Given the description of an element on the screen output the (x, y) to click on. 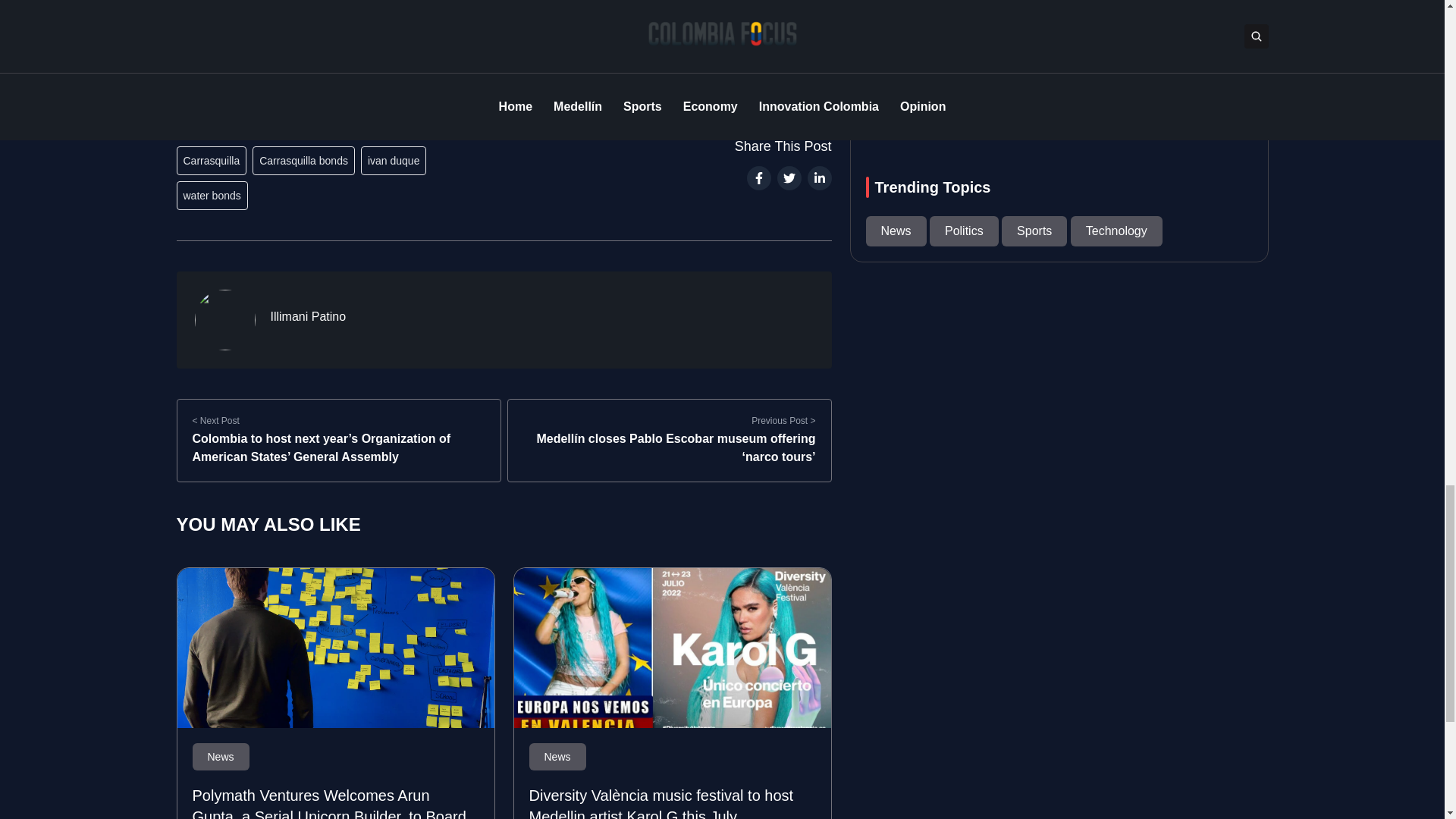
water bonds (211, 194)
Illimani Patino (307, 316)
Carrasquilla (211, 160)
Carrasquilla bonds (303, 160)
ivan duque (393, 160)
